Given the description of an element on the screen output the (x, y) to click on. 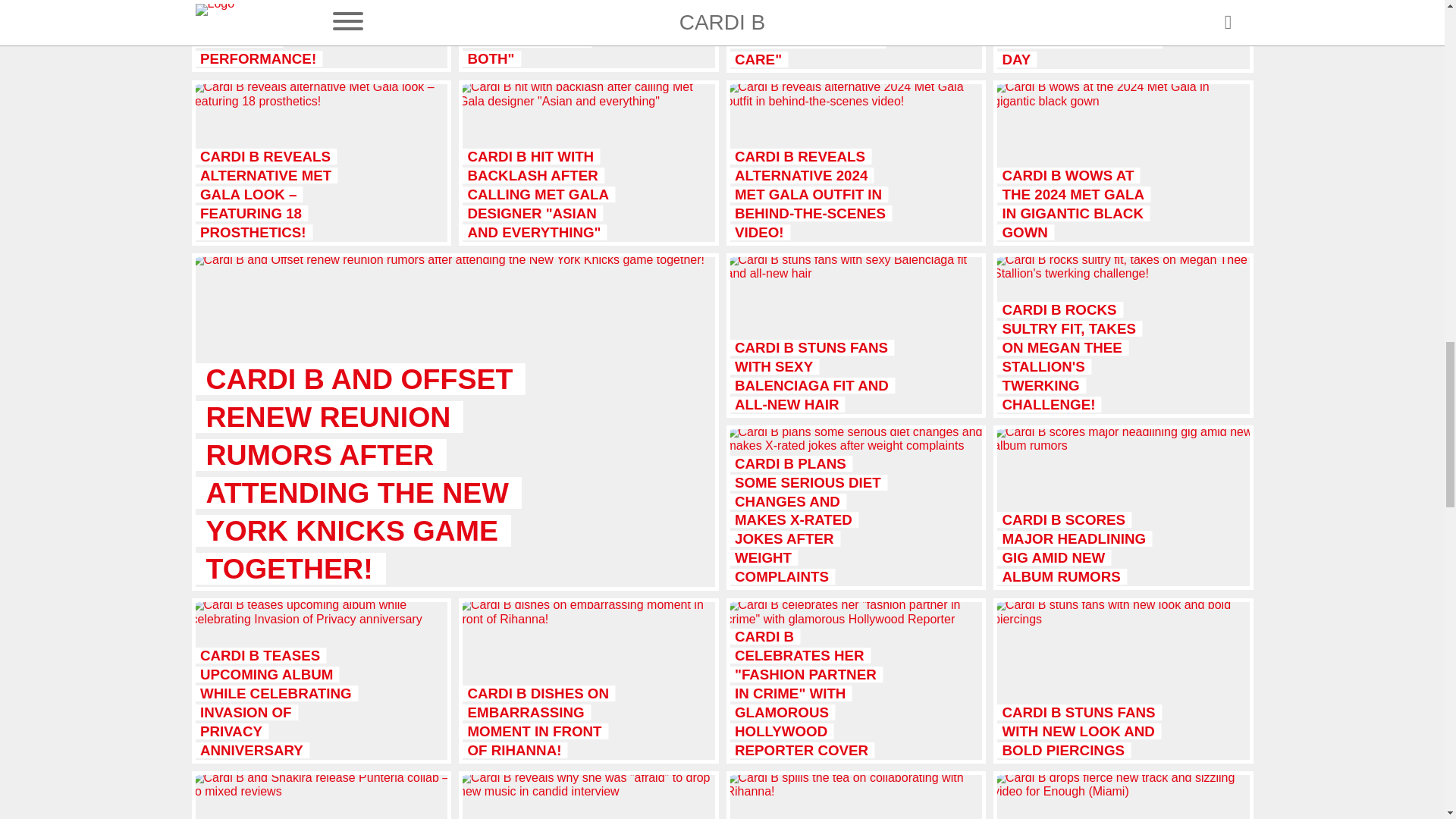
CARDI B WOWS AT THE 2024 MET GALA IN GIGANTIC BLACK GOWN (1122, 162)
CARDI B STUNS FANS WITH SEXY BALENCIAGA FIT AND ALL-NEW HAIR (856, 335)
CARDI B SCORES MAJOR HEADLINING GIG AMID NEW ALBUM RUMORS (1122, 507)
